Given the description of an element on the screen output the (x, y) to click on. 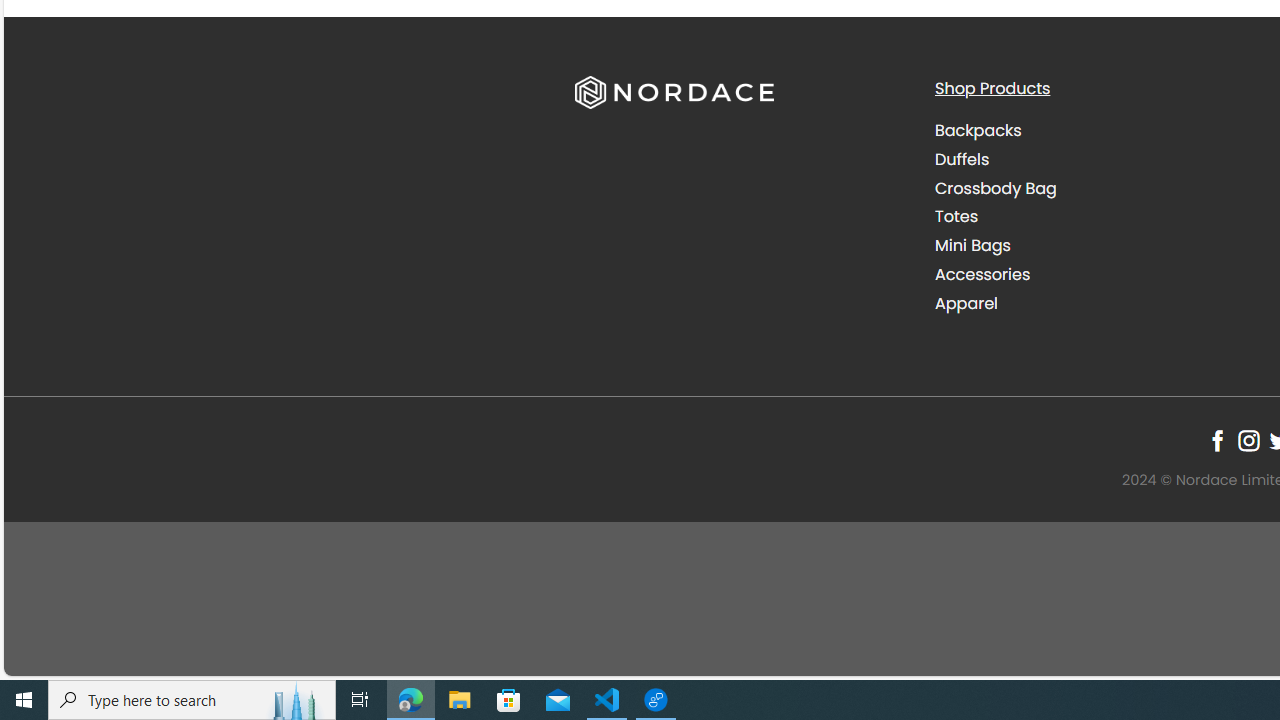
Backpacks (1099, 131)
